Given the description of an element on the screen output the (x, y) to click on. 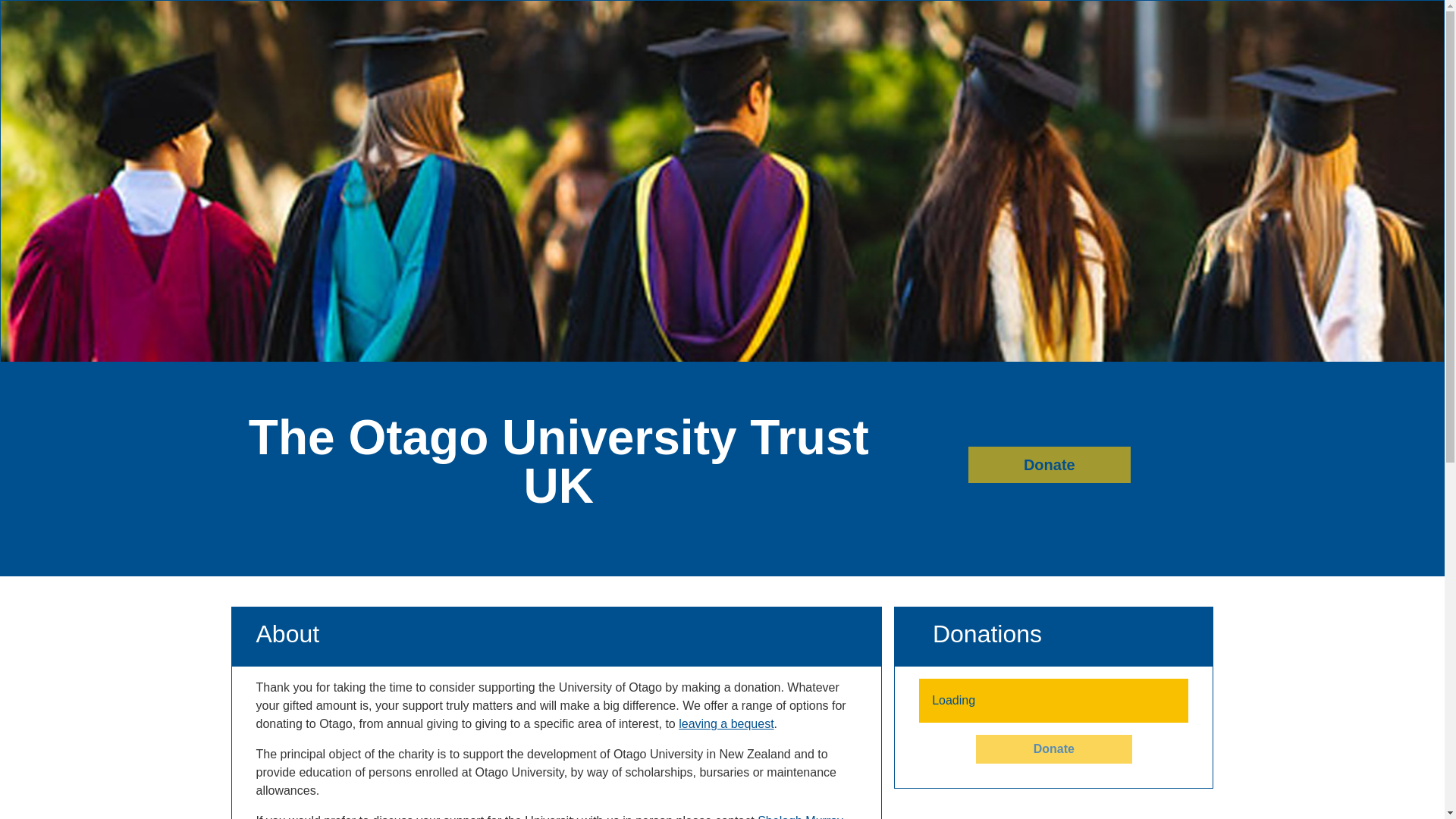
leaving a bequest (725, 723)
Shelagh Murray (800, 816)
Donate (1053, 748)
Donate (1049, 464)
